Given the description of an element on the screen output the (x, y) to click on. 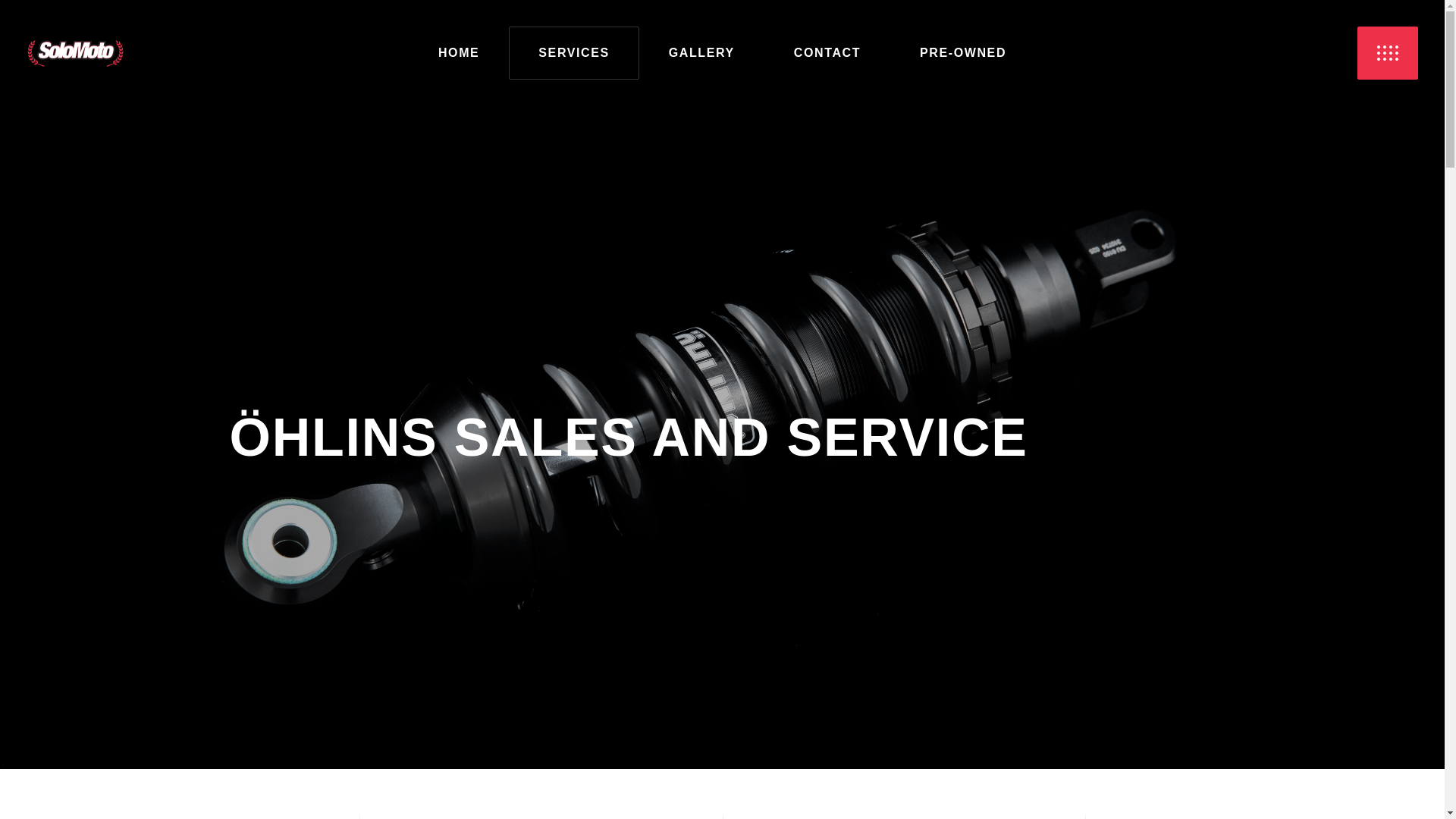
CONTACT (827, 53)
SERVICES (573, 53)
GALLERY (701, 53)
PRE-OWNED (963, 53)
HOME (458, 53)
